Given the description of an element on the screen output the (x, y) to click on. 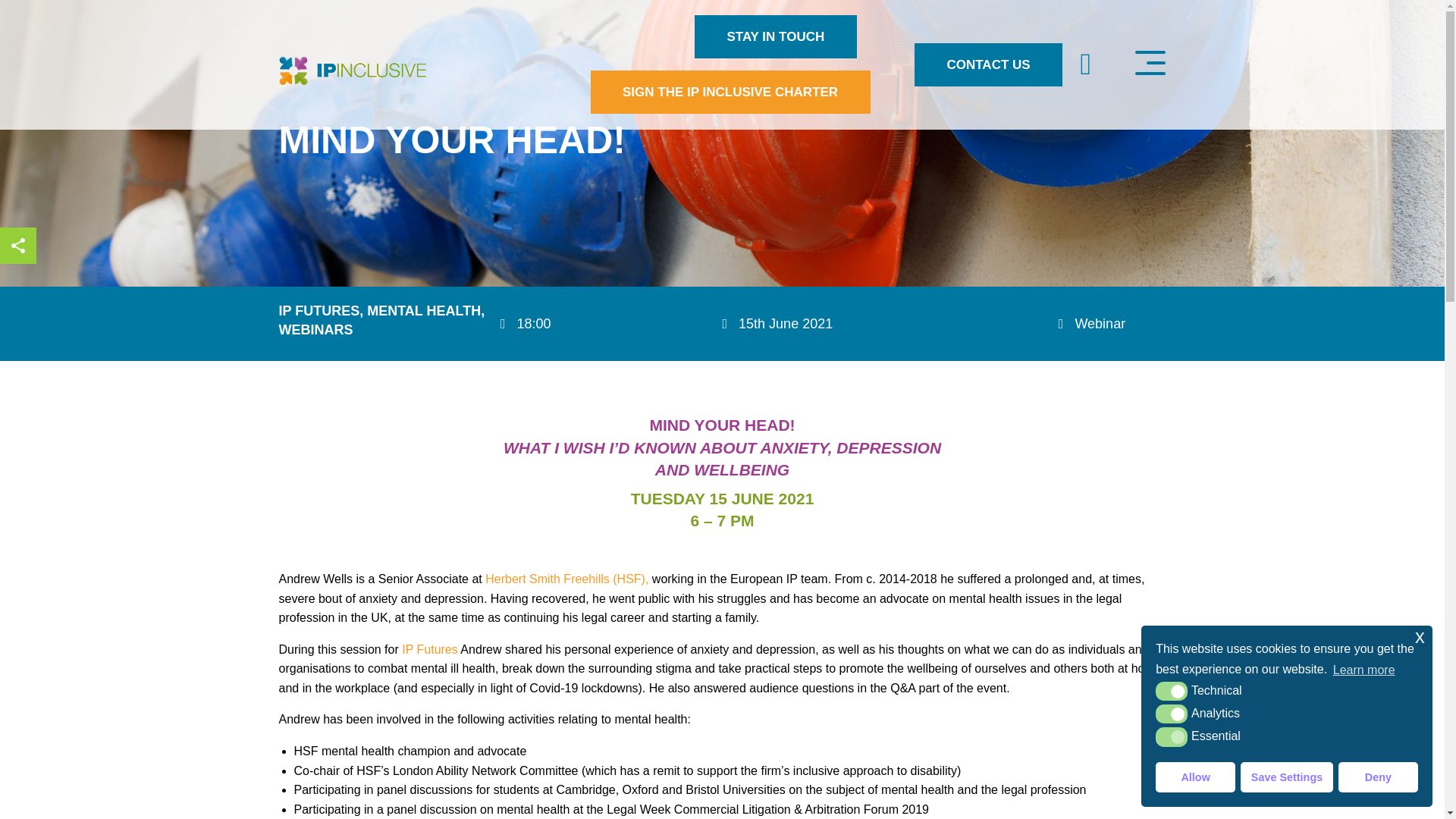
SIGN THE IP INCLUSIVE CHARTER (729, 91)
STAY IN TOUCH (775, 36)
CONTACT US (988, 63)
IP Futures (429, 649)
